Given the description of an element on the screen output the (x, y) to click on. 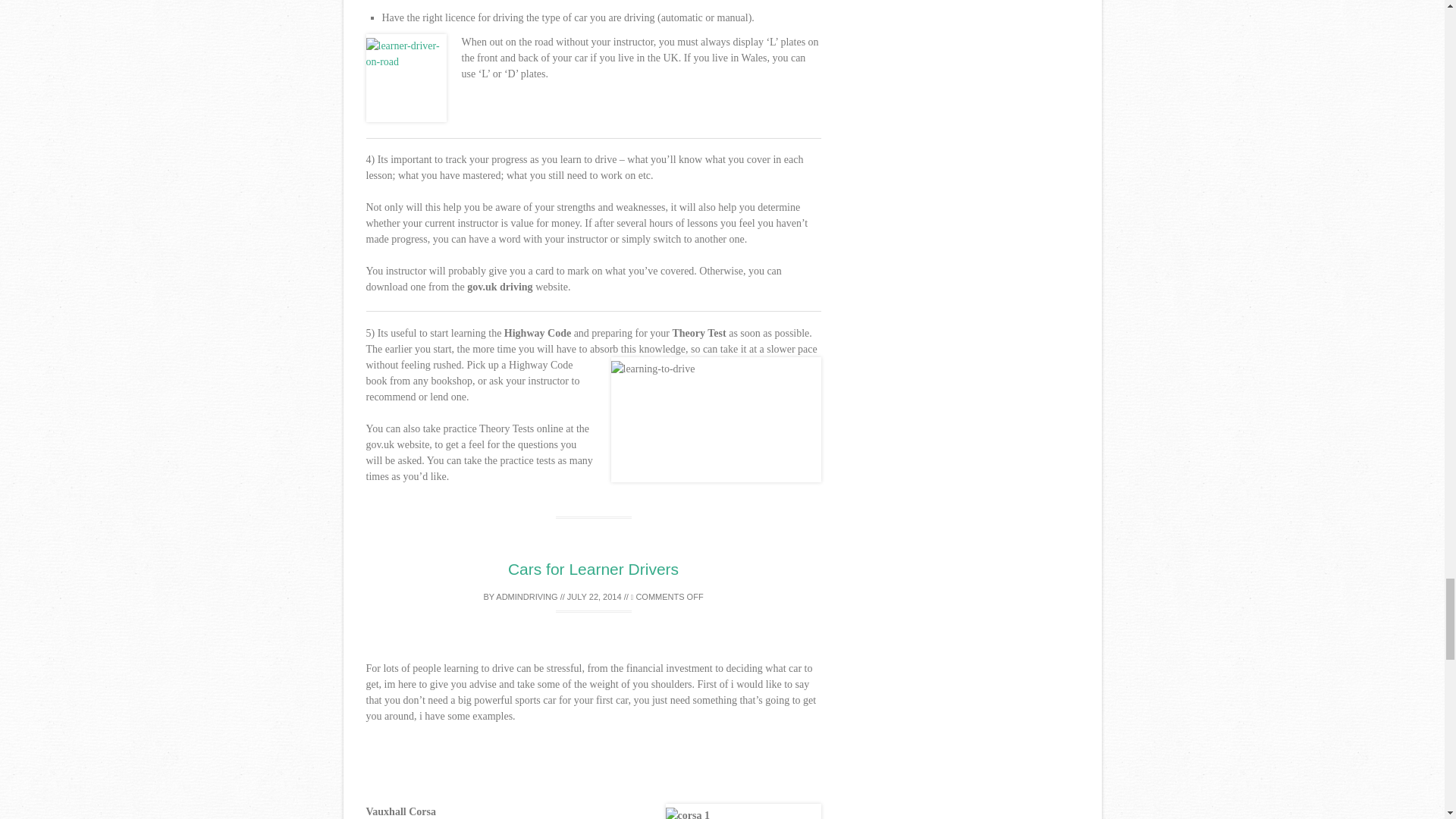
ADMINDRIVING (526, 596)
JULY 22, 2014 (594, 596)
Cars for Learner Drivers (593, 569)
9:17 am (594, 596)
View all posts by admindriving (526, 596)
